Given the description of an element on the screen output the (x, y) to click on. 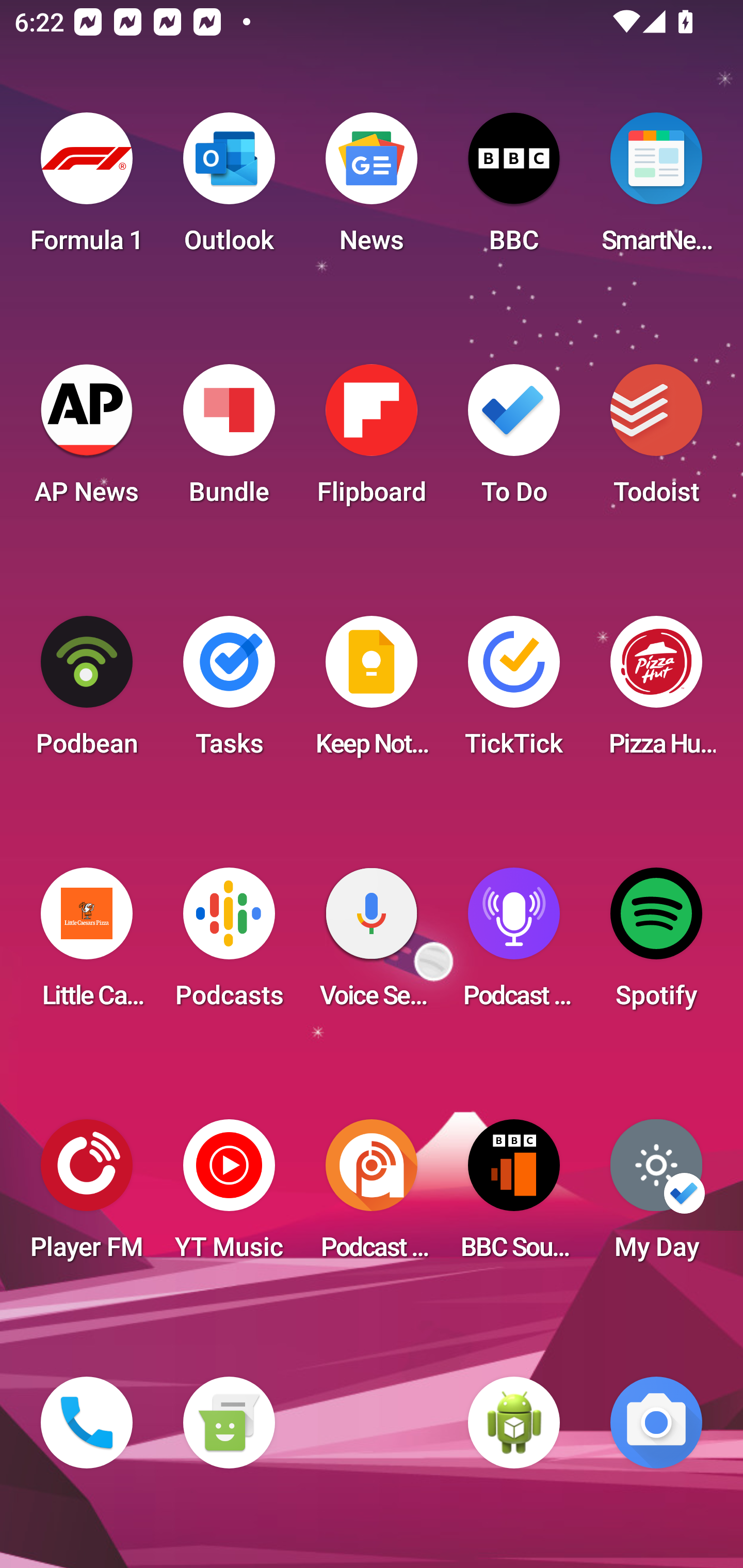
Formula 1 (86, 188)
Outlook (228, 188)
News (371, 188)
BBC (513, 188)
SmartNews (656, 188)
AP News (86, 440)
Bundle (228, 440)
Flipboard (371, 440)
To Do (513, 440)
Todoist (656, 440)
Podbean (86, 692)
Tasks (228, 692)
Keep Notes (371, 692)
TickTick (513, 692)
Pizza Hut HK & Macau (656, 692)
Little Caesars Pizza (86, 943)
Podcasts (228, 943)
Voice Search (371, 943)
Podcast Player (513, 943)
Spotify (656, 943)
Player FM (86, 1195)
YT Music (228, 1195)
Podcast Addict (371, 1195)
BBC Sounds (513, 1195)
My Day (656, 1195)
Phone (86, 1422)
Messaging (228, 1422)
WebView Browser Tester (513, 1422)
Camera (656, 1422)
